Given the description of an element on the screen output the (x, y) to click on. 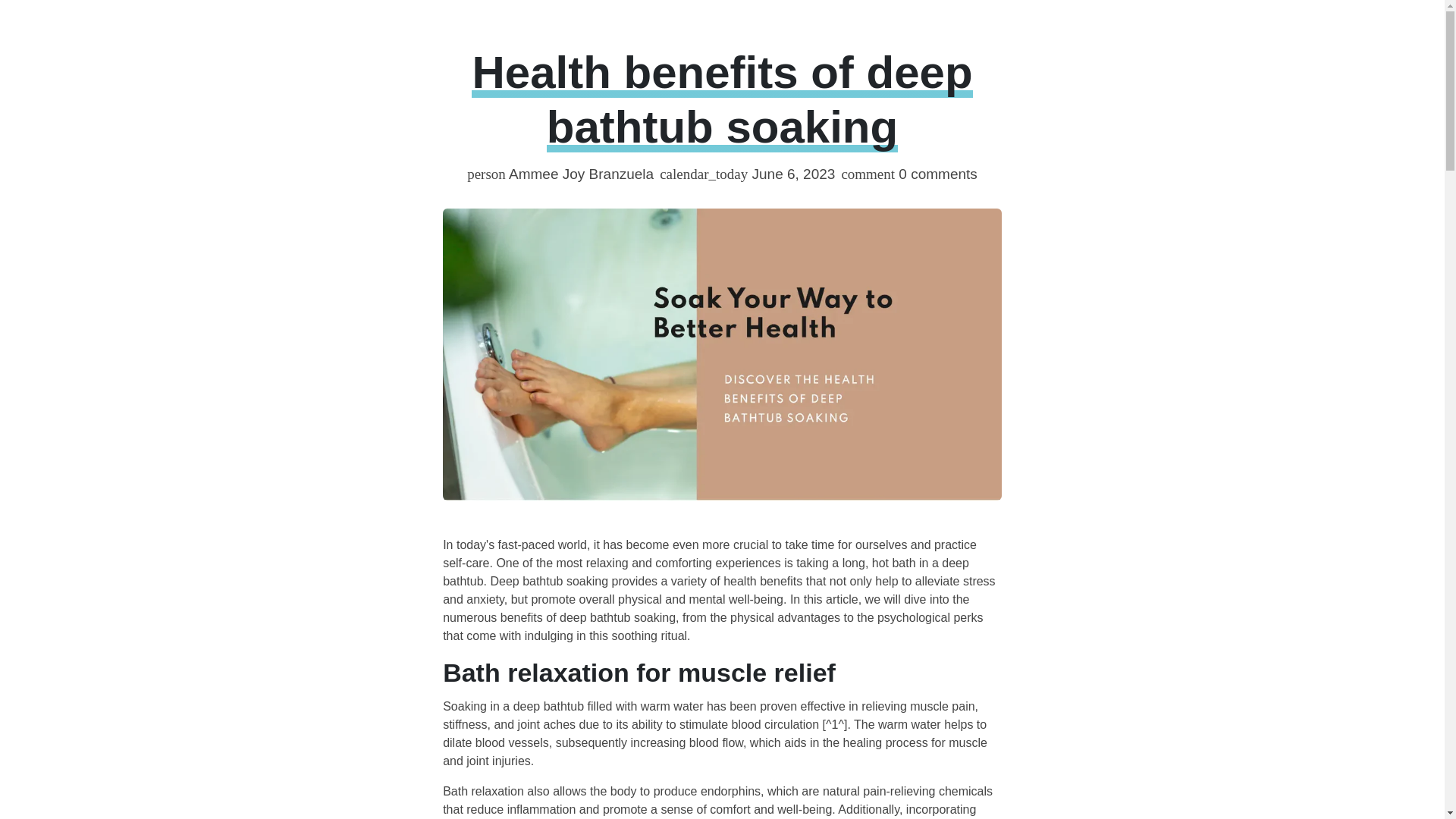
About (558, 16)
Cart (1089, 30)
Search (1001, 30)
